Given the description of an element on the screen output the (x, y) to click on. 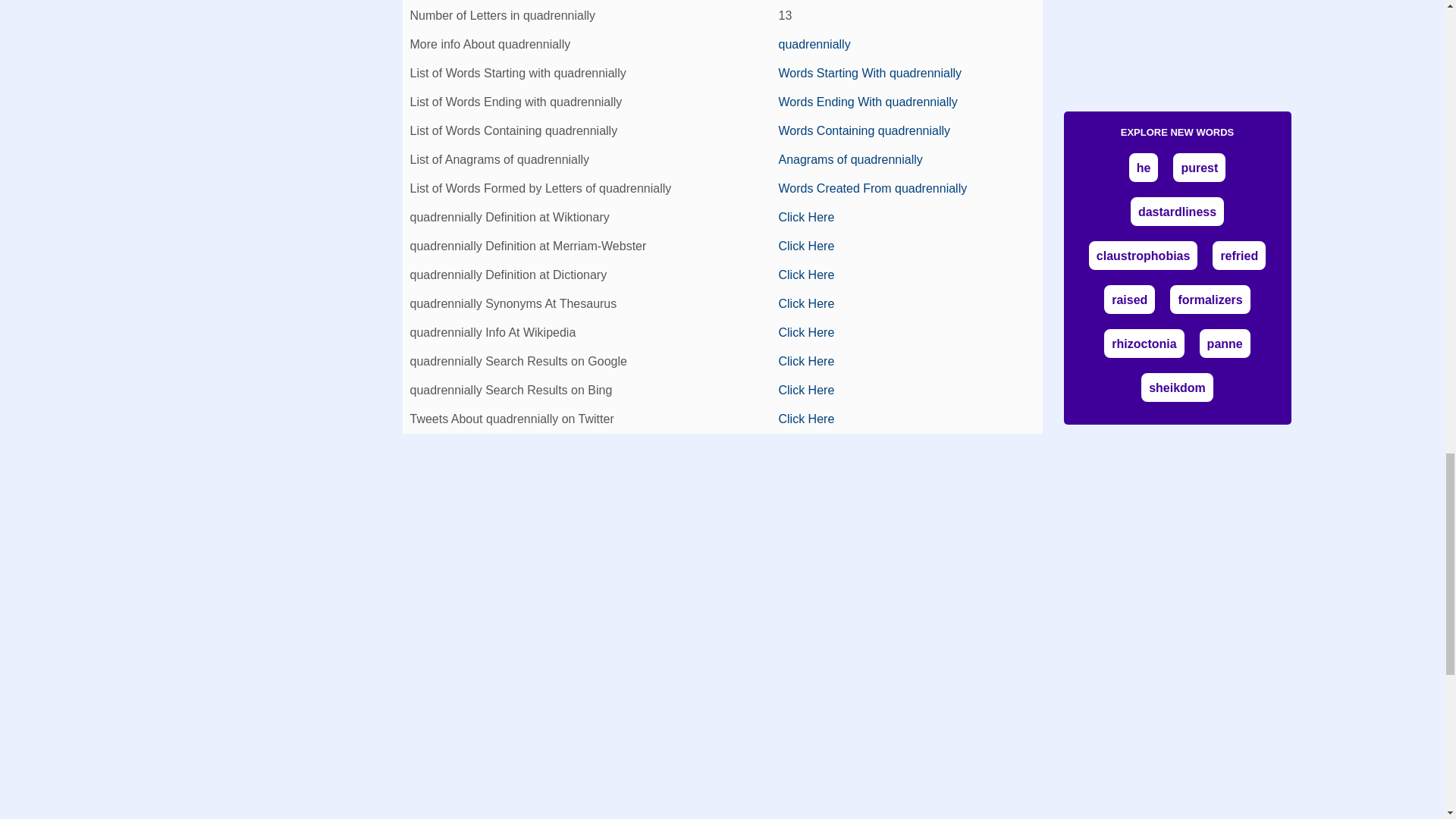
Click Here (805, 245)
Click Here (805, 274)
quadrennially (813, 43)
Click Here (805, 360)
Click Here (805, 332)
Words Containing quadrennially (863, 130)
Click Here (805, 216)
Click Here (805, 418)
Words Ending With quadrennially (866, 101)
Words Starting With quadrennially (868, 72)
